Given the description of an element on the screen output the (x, y) to click on. 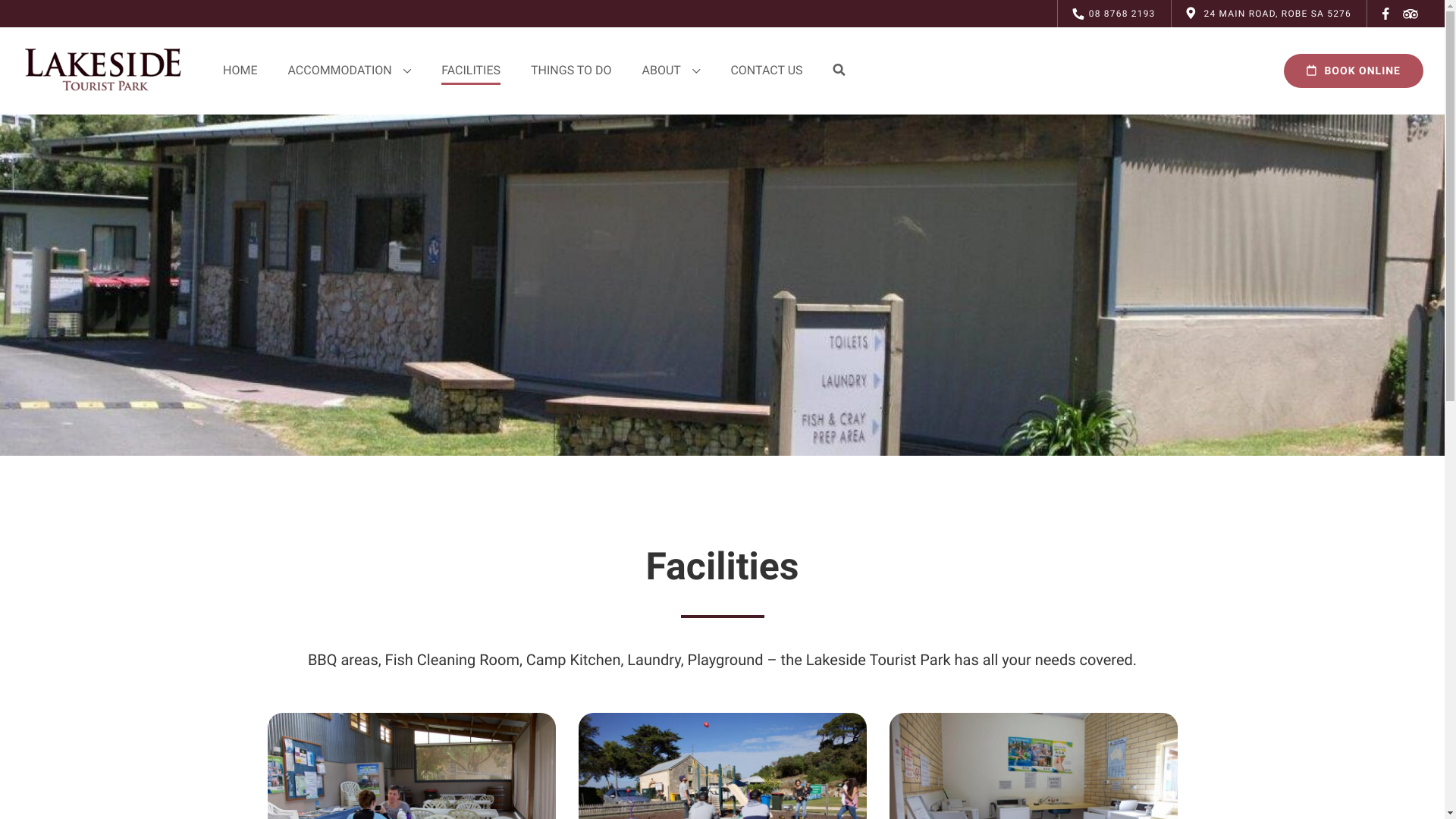
HOME Element type: text (239, 70)
THINGS TO DO Element type: text (571, 70)
08 8768 2193 Element type: text (1113, 13)
ACCOMMODATION Element type: text (349, 70)
CONTACT US Element type: text (766, 70)
FACILITIES Element type: text (470, 70)
ABOUT Element type: text (671, 70)
BOOK ONLINE Element type: text (1353, 70)
